Given the description of an element on the screen output the (x, y) to click on. 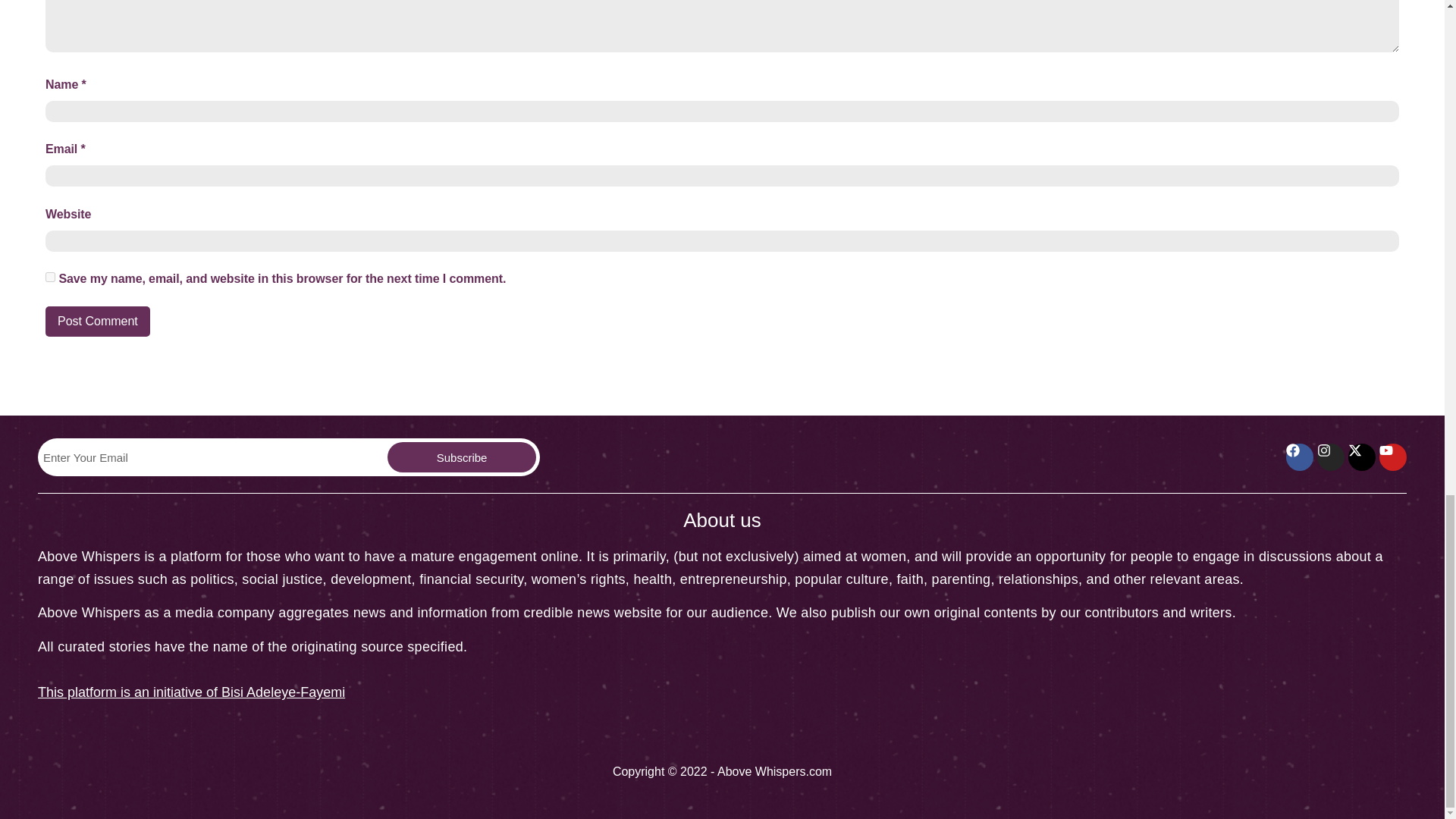
Post Comment (97, 321)
yes (50, 276)
